Given the description of an element on the screen output the (x, y) to click on. 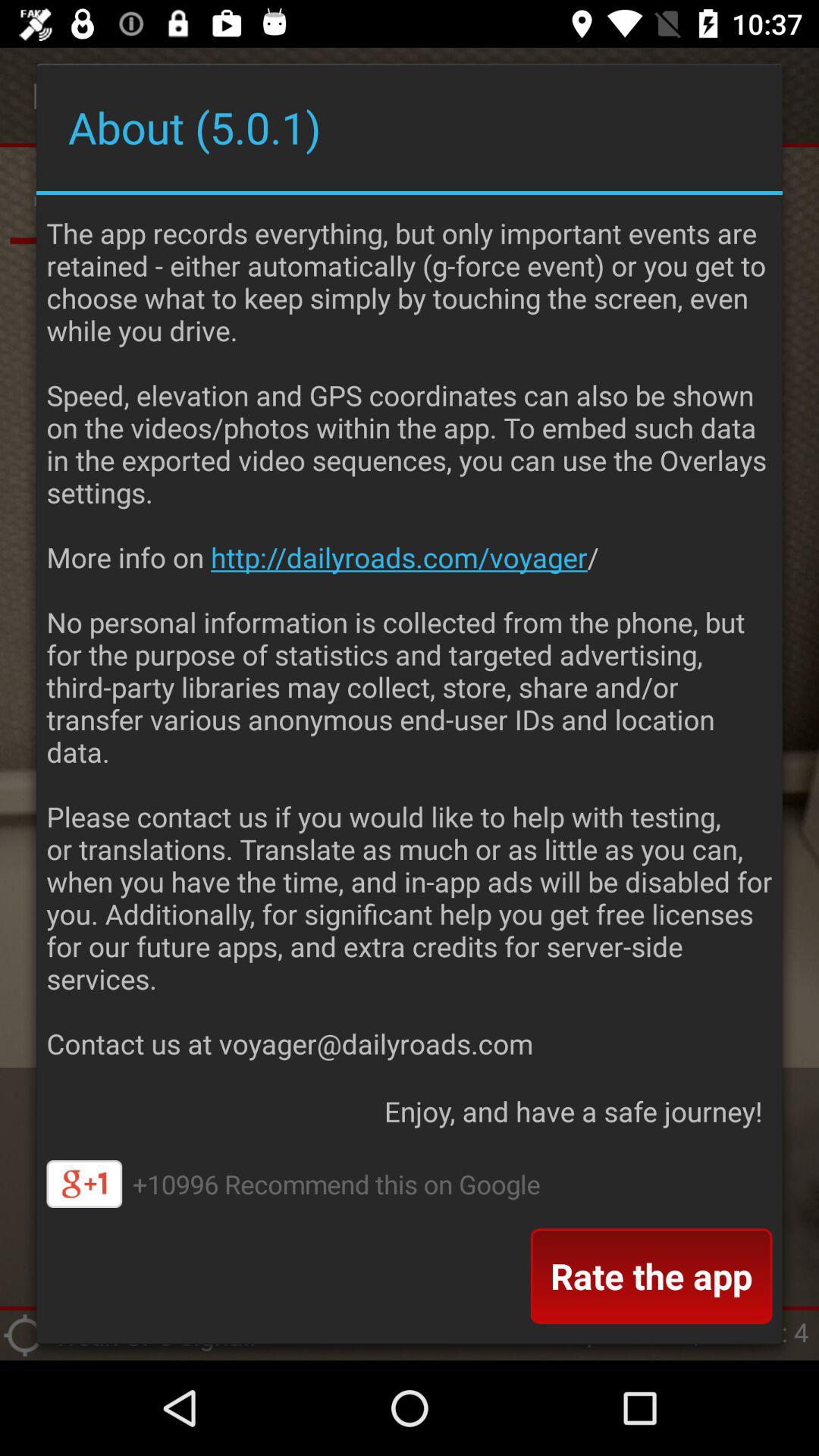
swipe to the dailyroads voyager allows item (409, 633)
